Given the description of an element on the screen output the (x, y) to click on. 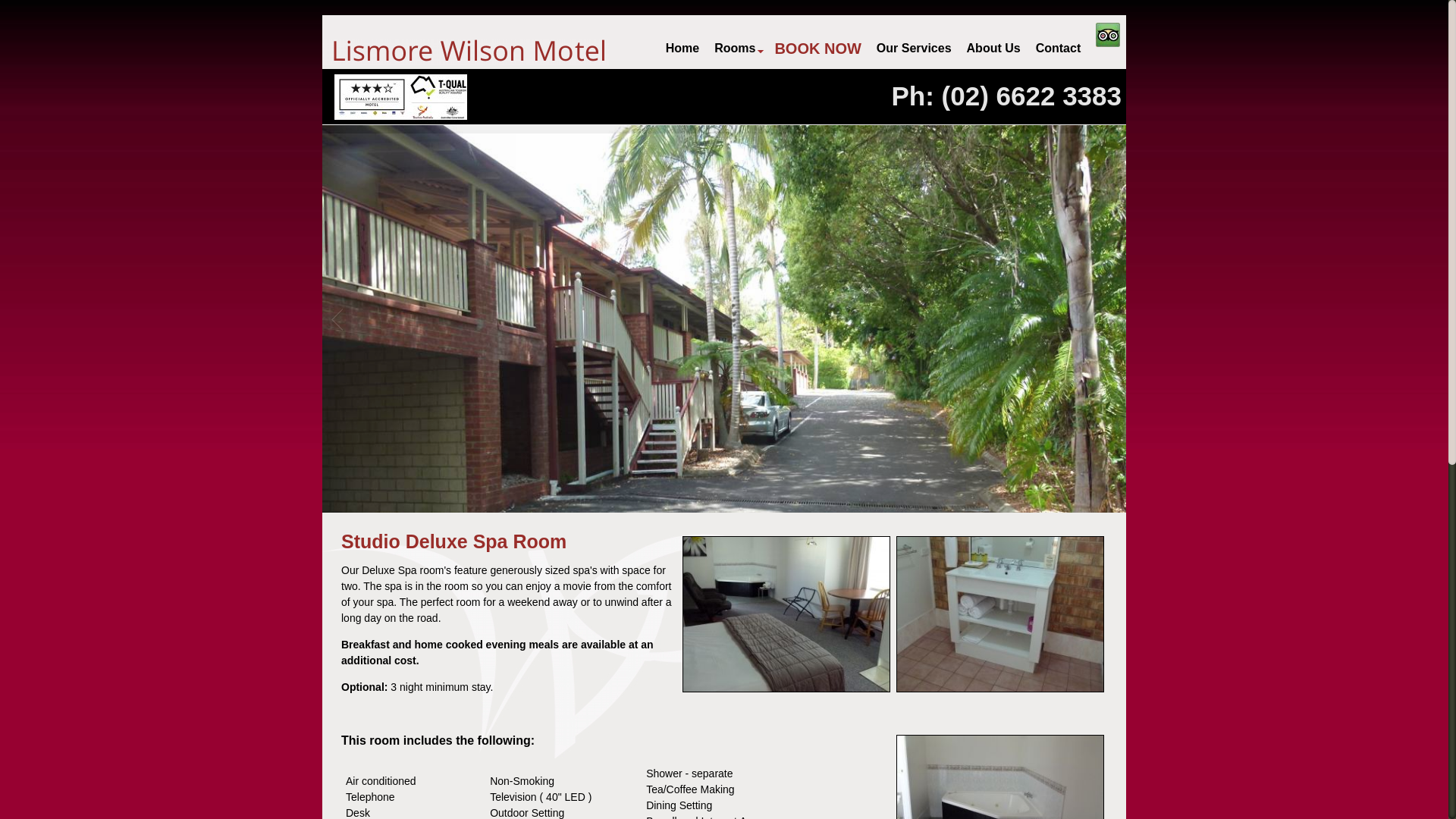
About Us Element type: text (993, 48)
Ph: (02) 6622 3383 Element type: text (1006, 95)
Home Element type: text (682, 48)
Our Services Element type: text (914, 48)
Contact Element type: text (1058, 48)
Rooms Element type: text (736, 48)
Next Element type: text (1111, 311)
BOOK NOW Element type: text (817, 48)
Previous Element type: text (336, 311)
